Given the description of an element on the screen output the (x, y) to click on. 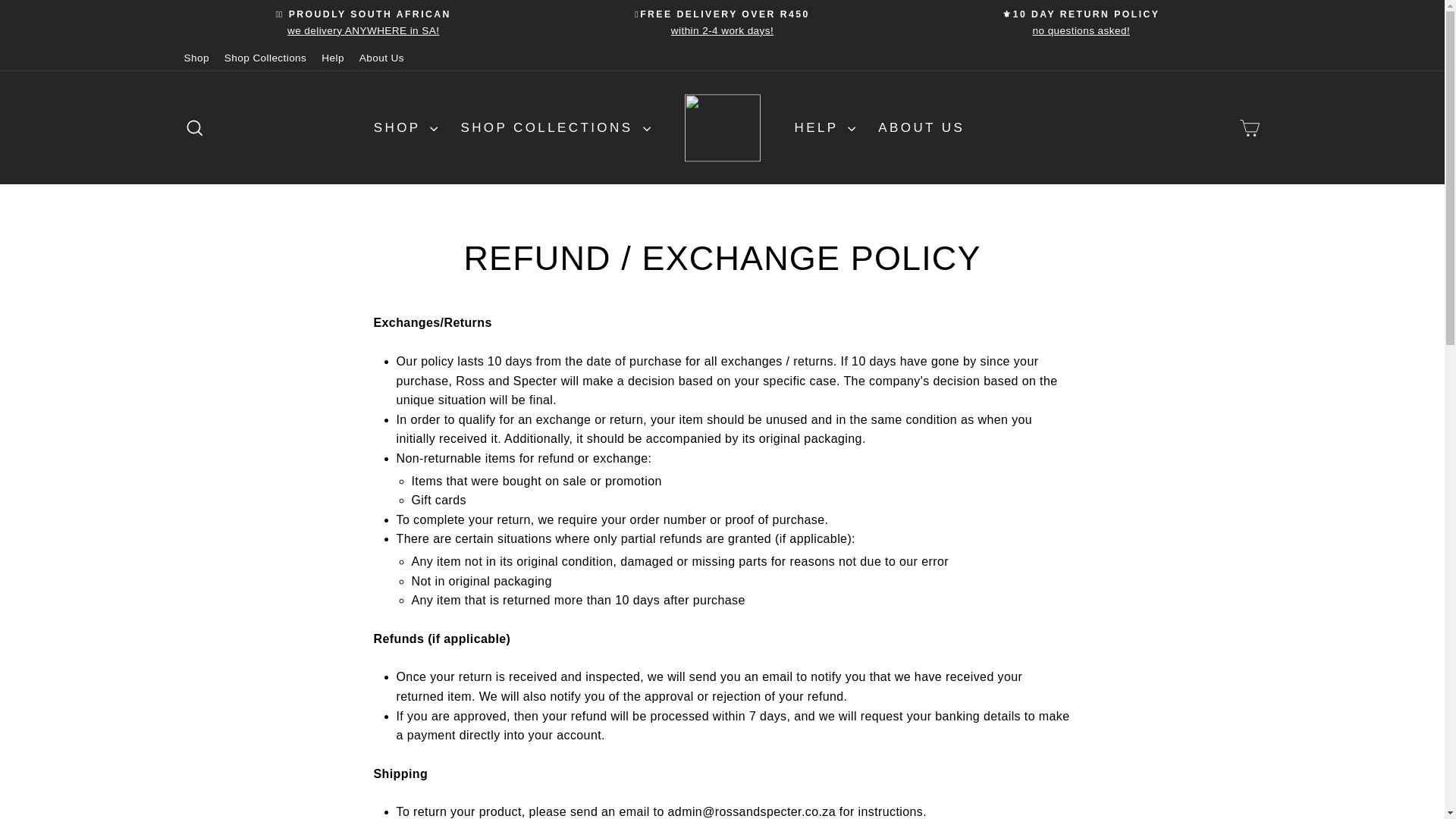
ICON-SEARCH (194, 127)
